Given the description of an element on the screen output the (x, y) to click on. 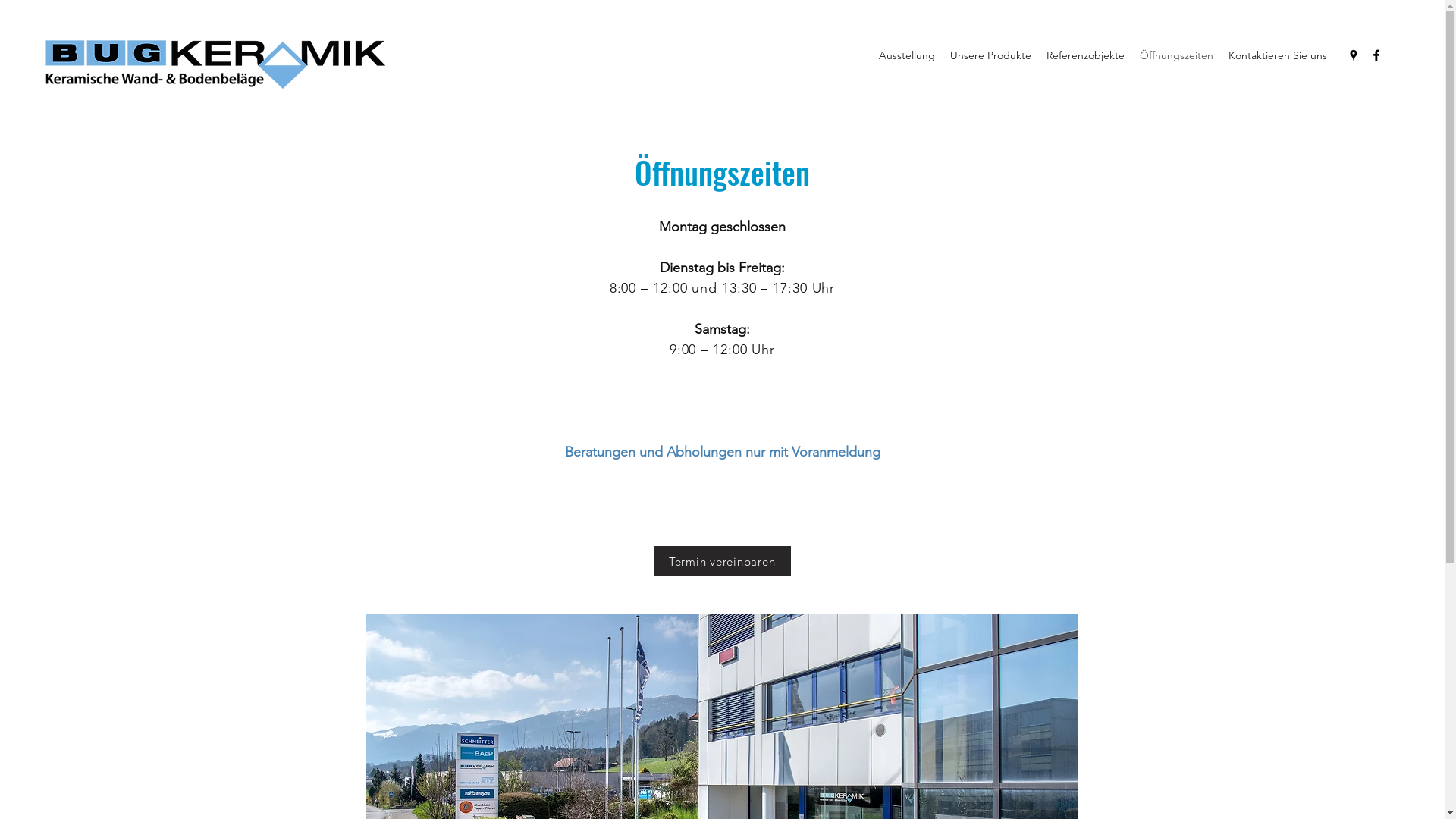
Termin vereinbaren Element type: text (721, 561)
Kontaktieren Sie uns Element type: text (1277, 54)
Unsere Produkte Element type: text (990, 54)
Ausstellung Element type: text (906, 54)
Referenzobjekte Element type: text (1085, 54)
